Given the description of an element on the screen output the (x, y) to click on. 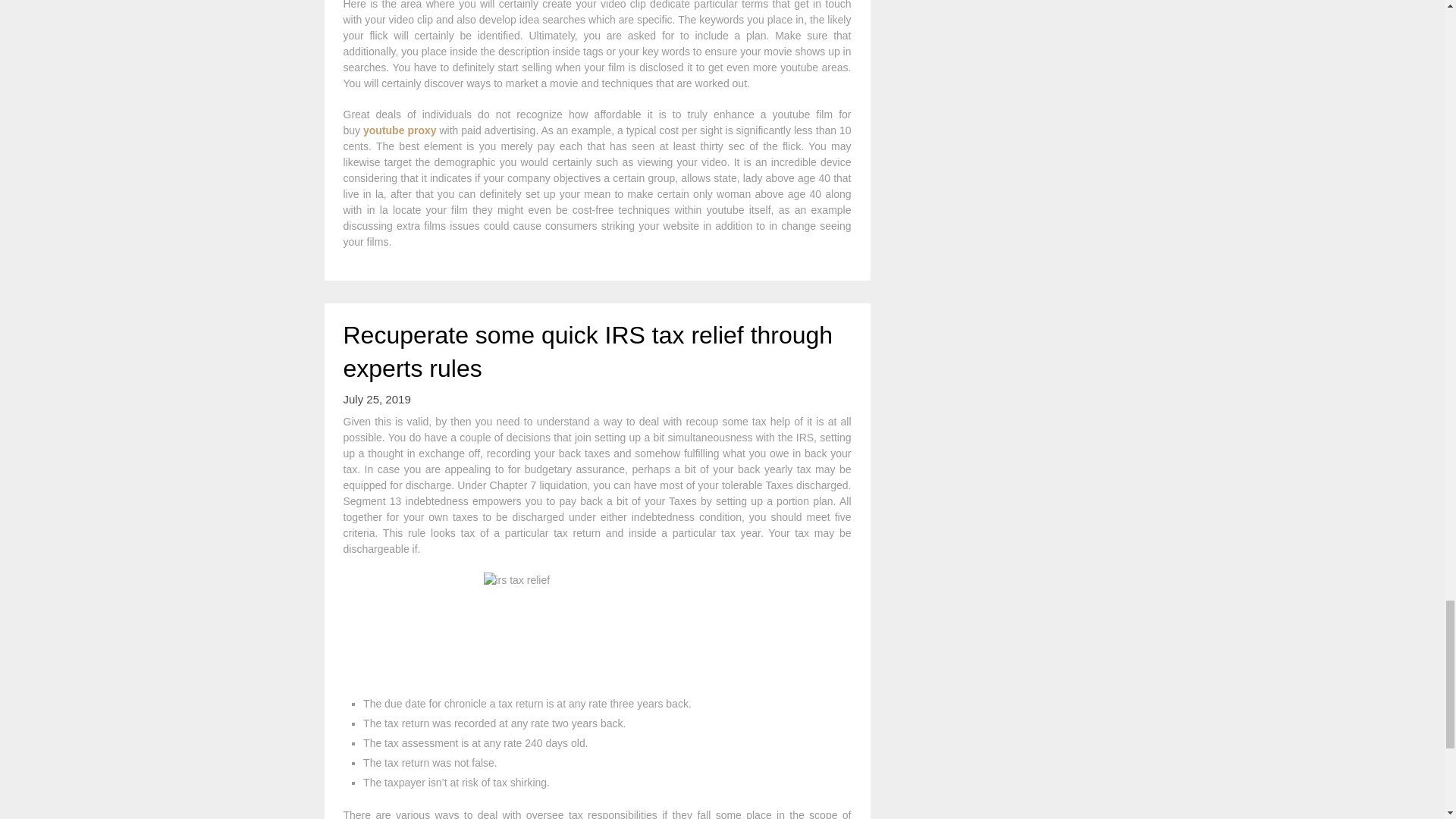
Recuperate some quick IRS tax relief through experts rules (587, 352)
youtube proxy (399, 130)
Recuperate some quick IRS tax relief through experts rules (587, 352)
